Given the description of an element on the screen output the (x, y) to click on. 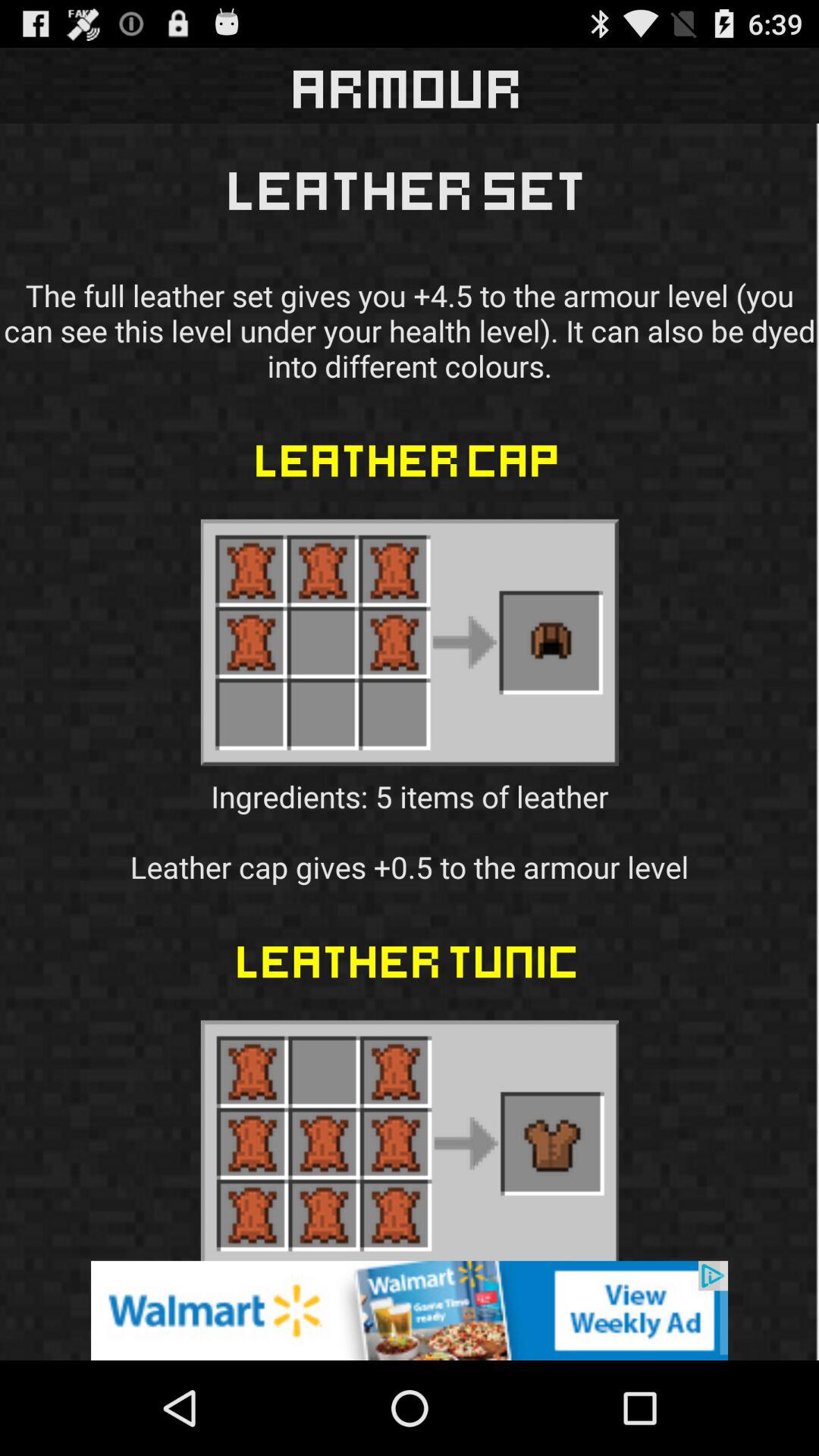
just an advertisement (409, 1310)
